Given the description of an element on the screen output the (x, y) to click on. 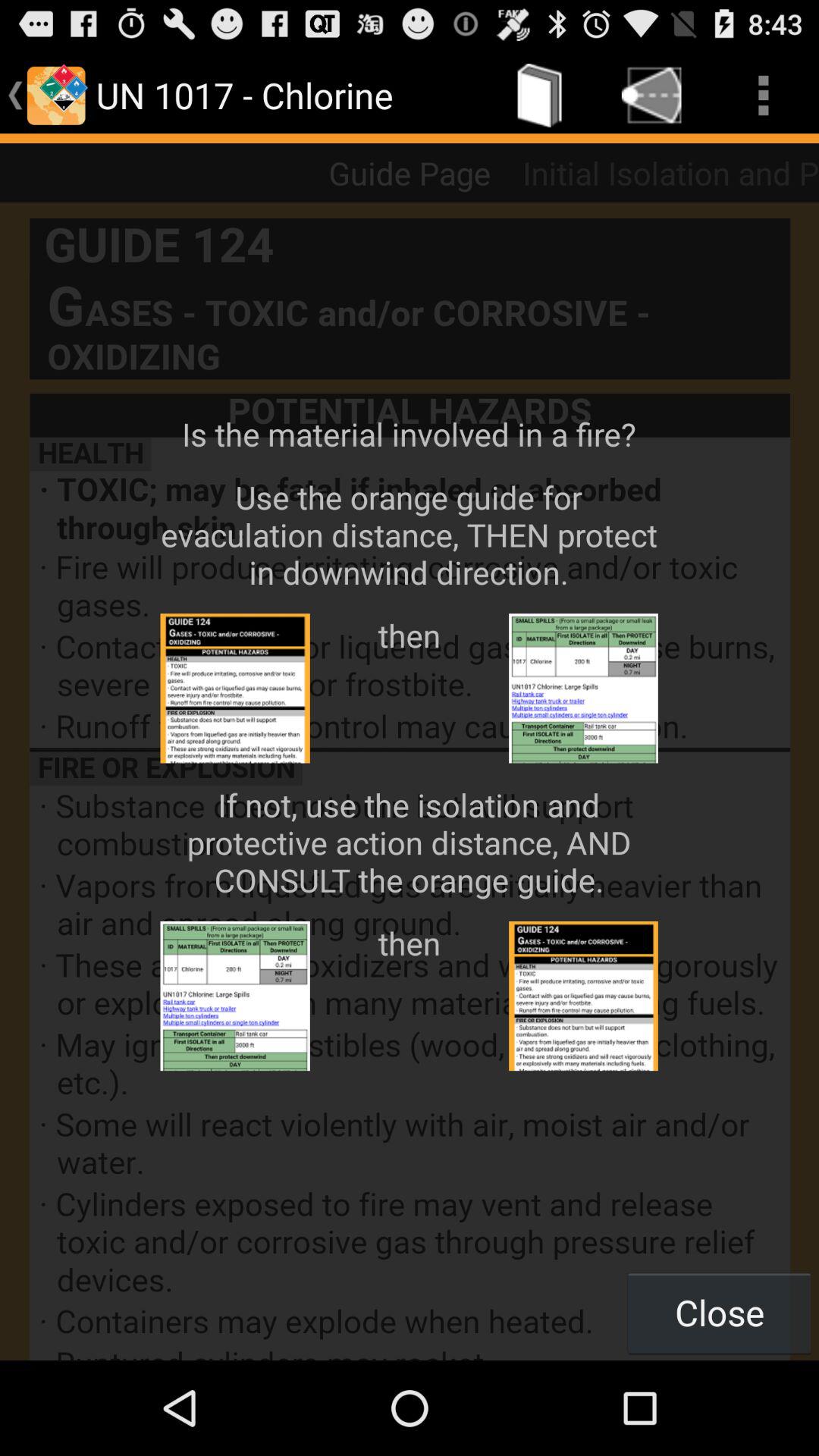
select close button (719, 1312)
